Given the description of an element on the screen output the (x, y) to click on. 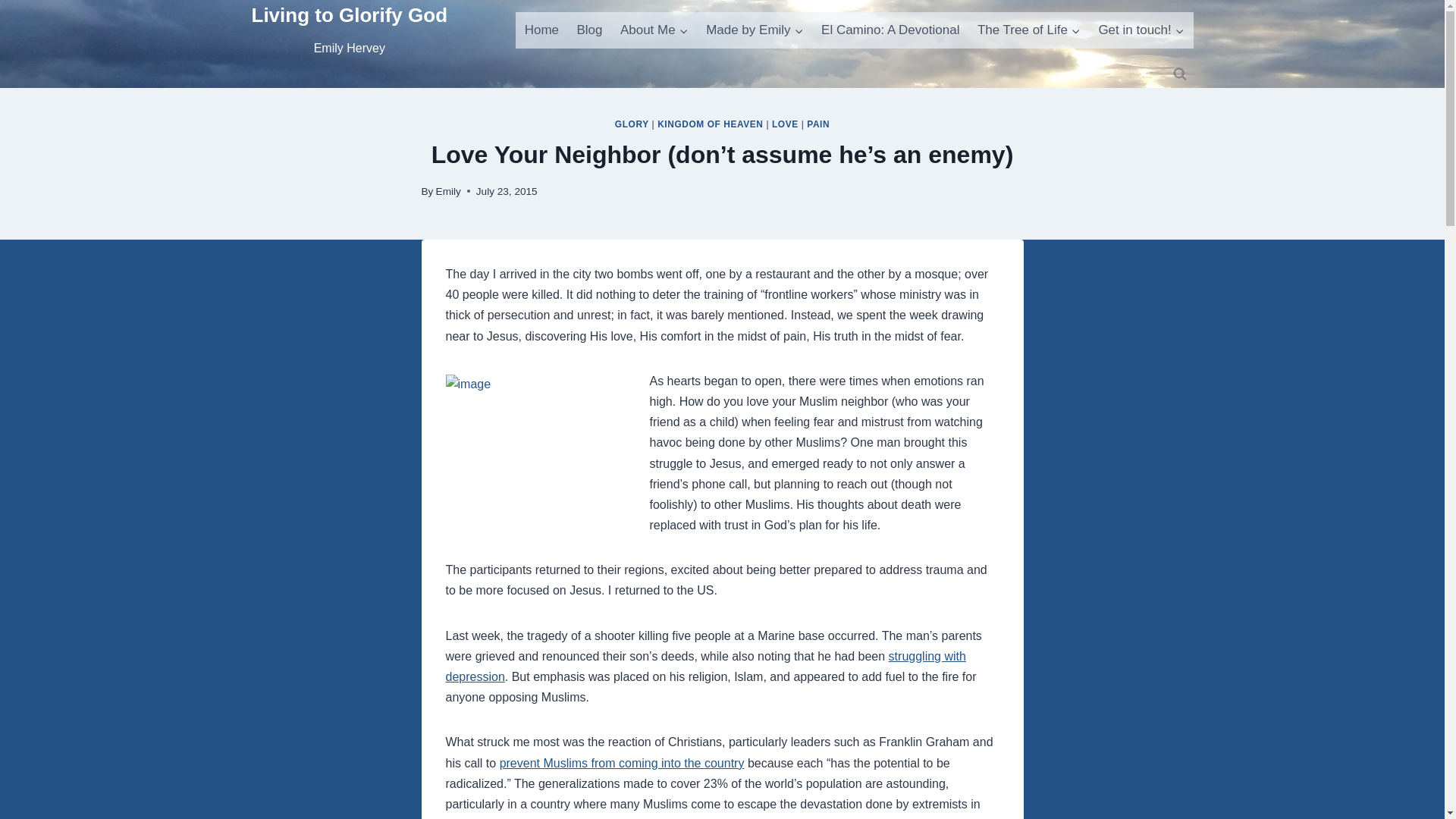
image (544, 445)
Made by Emily (754, 30)
GLORY (631, 123)
prevent Muslims from coming into the country (621, 762)
Blog (589, 30)
Home (541, 30)
Emily (448, 191)
PAIN (817, 123)
LOVE (349, 30)
